Given the description of an element on the screen output the (x, y) to click on. 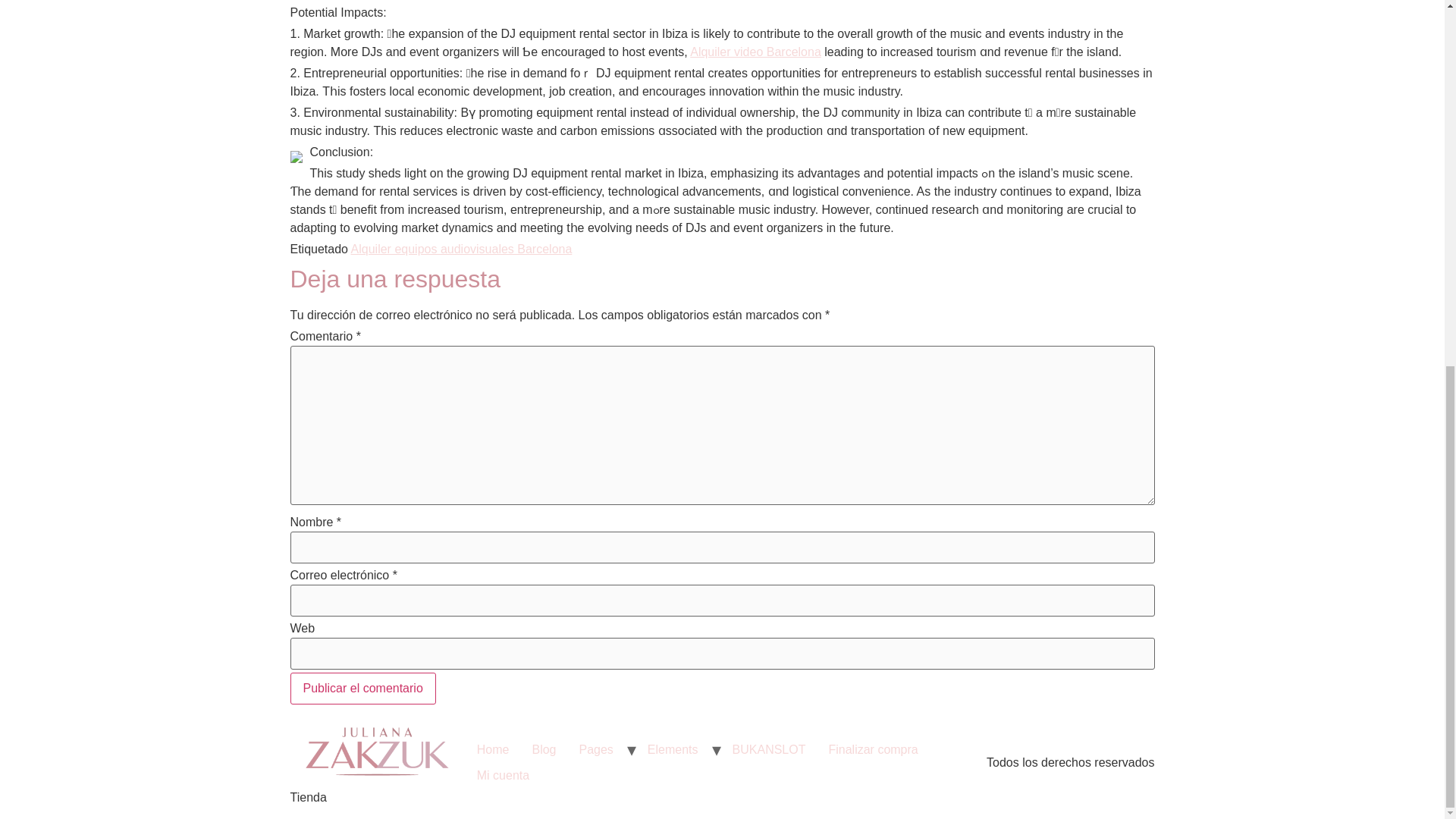
Home (493, 749)
Publicar el comentario (362, 688)
Pages (595, 749)
Publicar el comentario (362, 688)
Alquiler equipos audiovisuales Barcelona (461, 248)
Alquiler video Barcelona (755, 51)
Blog (543, 749)
